Given the description of an element on the screen output the (x, y) to click on. 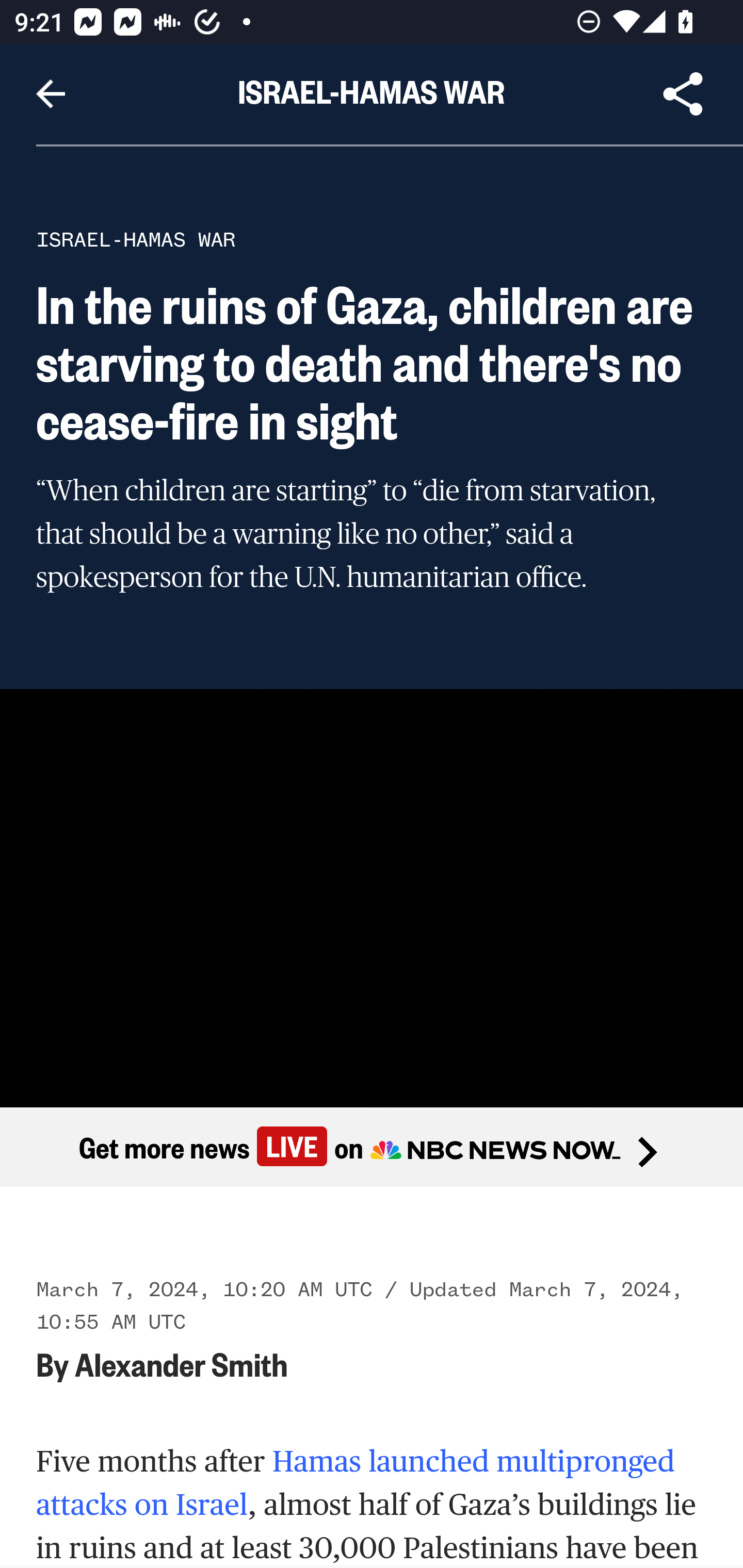
Navigate up (50, 93)
Share Article, button (683, 94)
ISRAEL-HAMAS WAR (136, 239)
Get more news Live on Get more news Live on (371, 1147)
Hamas launched multipronged attacks on Israel (355, 1484)
